Given the description of an element on the screen output the (x, y) to click on. 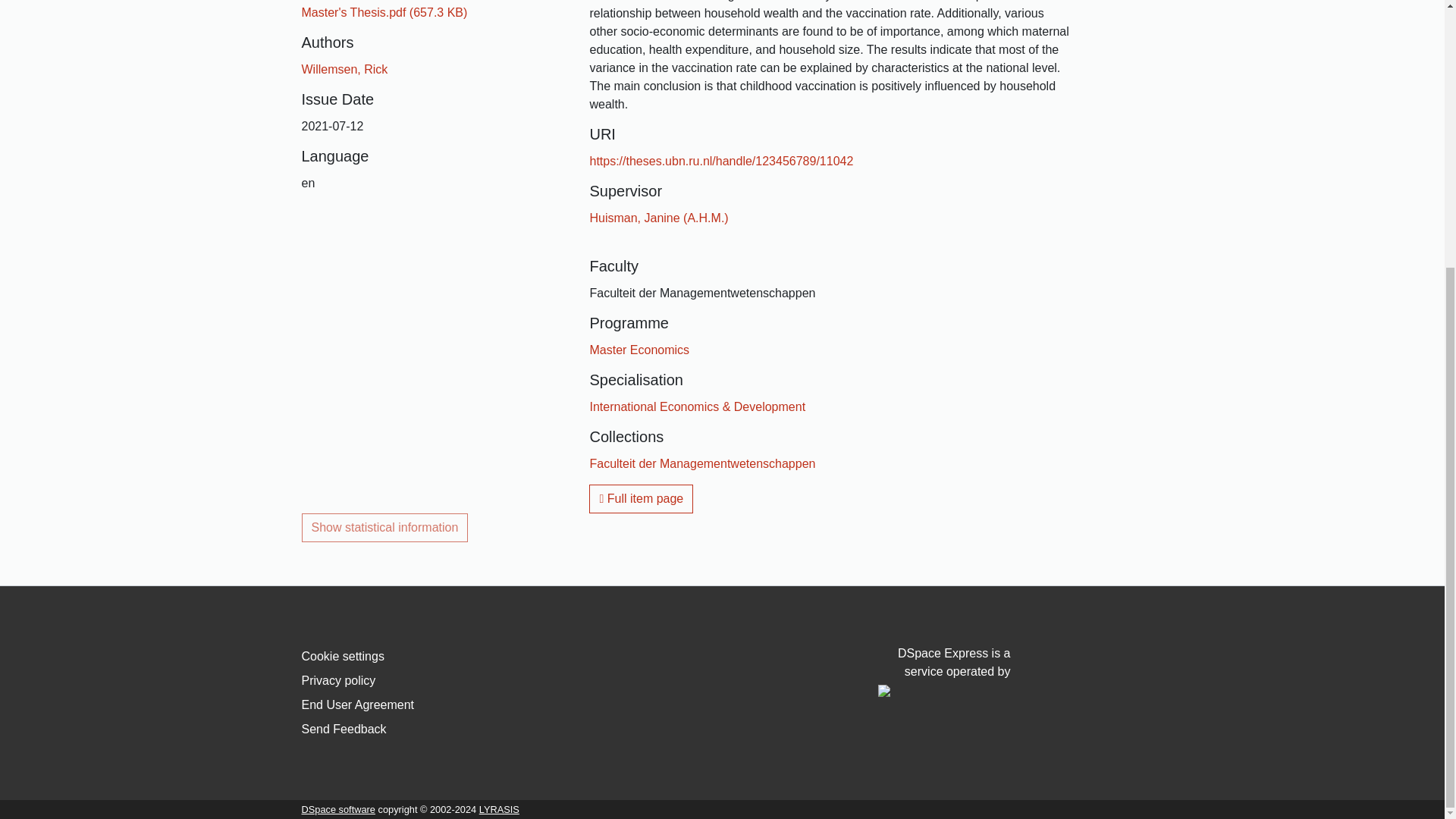
Master Economics (638, 349)
Cookie settings (342, 656)
DSpace software (338, 808)
Send Feedback (344, 728)
Full item page (641, 498)
Privacy policy (338, 680)
Faculteit der Managementwetenschappen (702, 463)
End User Agreement (357, 704)
Willemsen, Rick (344, 69)
Show statistical information (384, 527)
